Given the description of an element on the screen output the (x, y) to click on. 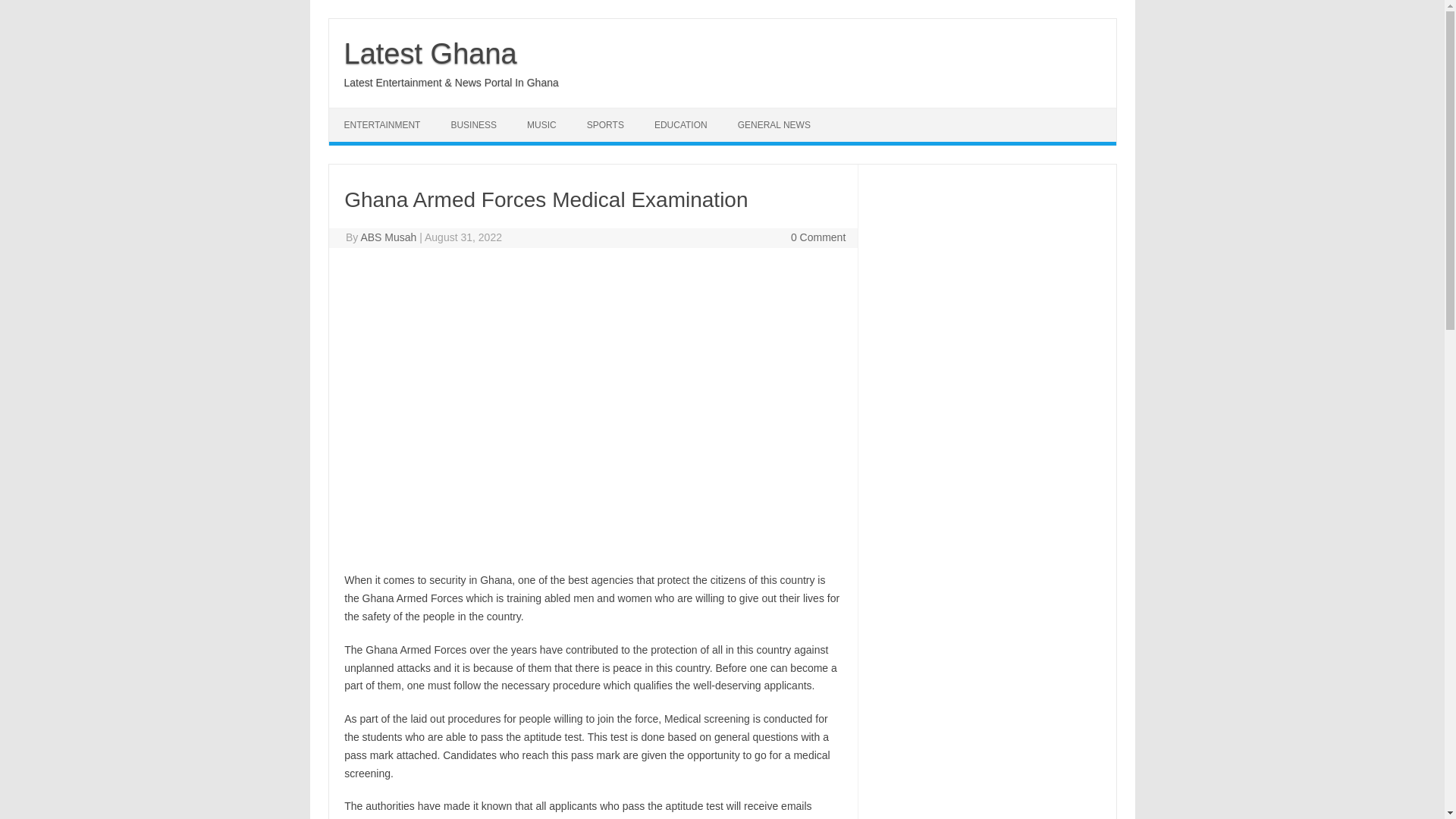
EDUCATION (680, 124)
BUSINESS (473, 124)
ENTERTAINMENT (382, 124)
GENERAL NEWS (773, 124)
Latest Ghana (429, 53)
Latest Ghana (429, 53)
0 Comment (817, 236)
Posts by ABS Musah (387, 236)
MUSIC (542, 124)
SPORTS (605, 124)
ABS Musah (387, 236)
